Given the description of an element on the screen output the (x, y) to click on. 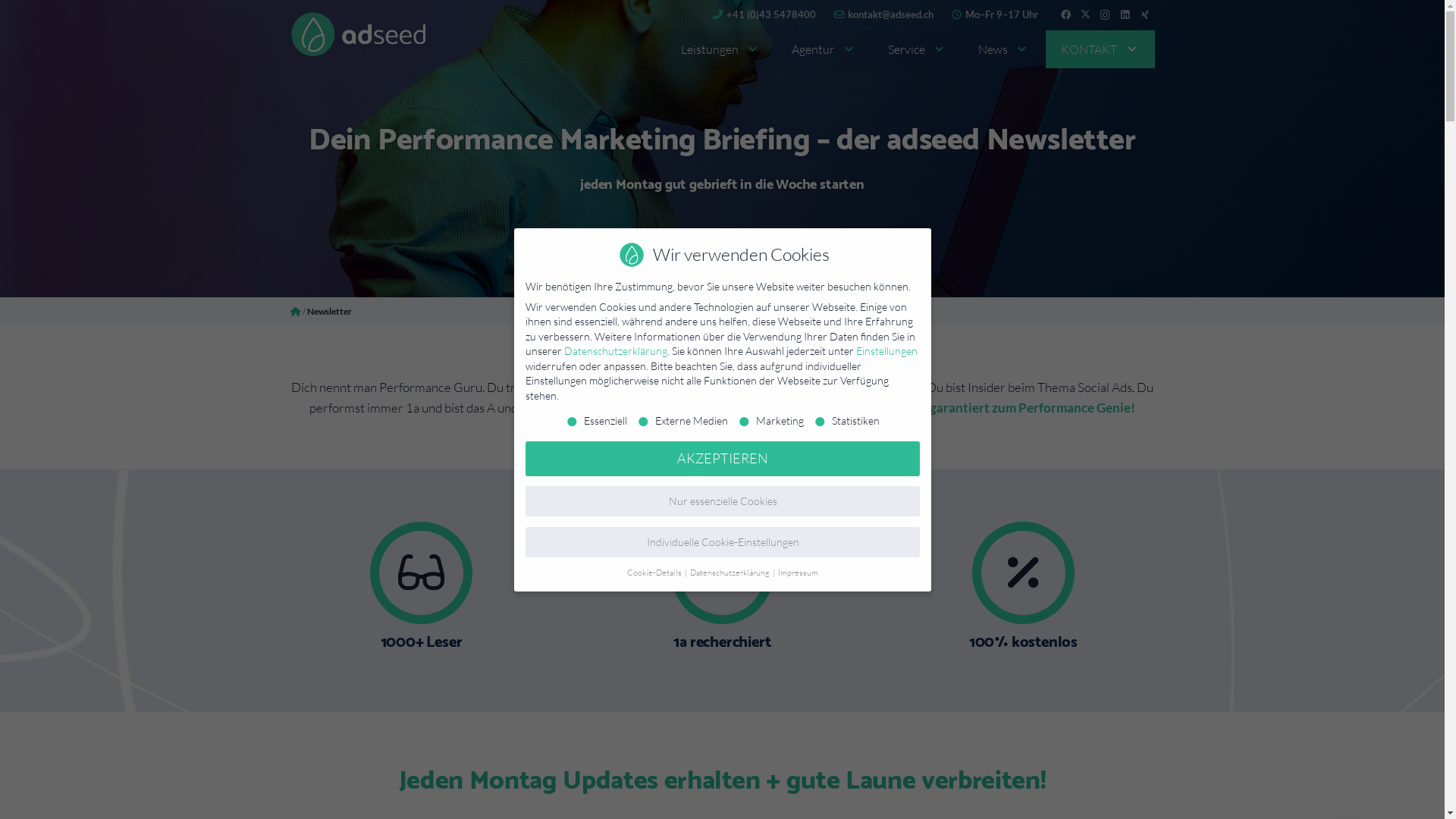
Impressum Element type: text (798, 572)
News Element type: text (1003, 49)
Instagram Element type: hover (1104, 15)
AKZEPTIEREN Element type: text (721, 457)
Twitter Element type: hover (1085, 15)
Nur essenzielle Cookies Element type: text (721, 500)
kontakt@adseed.ch Element type: text (883, 14)
Cookie-Details Element type: text (654, 572)
Xing Element type: hover (1144, 15)
Service Element type: text (917, 49)
Individuelle Cookie-Einstellungen Element type: text (721, 541)
Leistungen Element type: text (720, 49)
Agentur Element type: text (823, 49)
KONTAKT Element type: text (1099, 49)
Einstellungen Element type: text (885, 350)
LinkedIn Element type: hover (1124, 15)
Facebook Element type: hover (1065, 15)
+41 (0)43 5478400 Element type: text (763, 14)
